Given the description of an element on the screen output the (x, y) to click on. 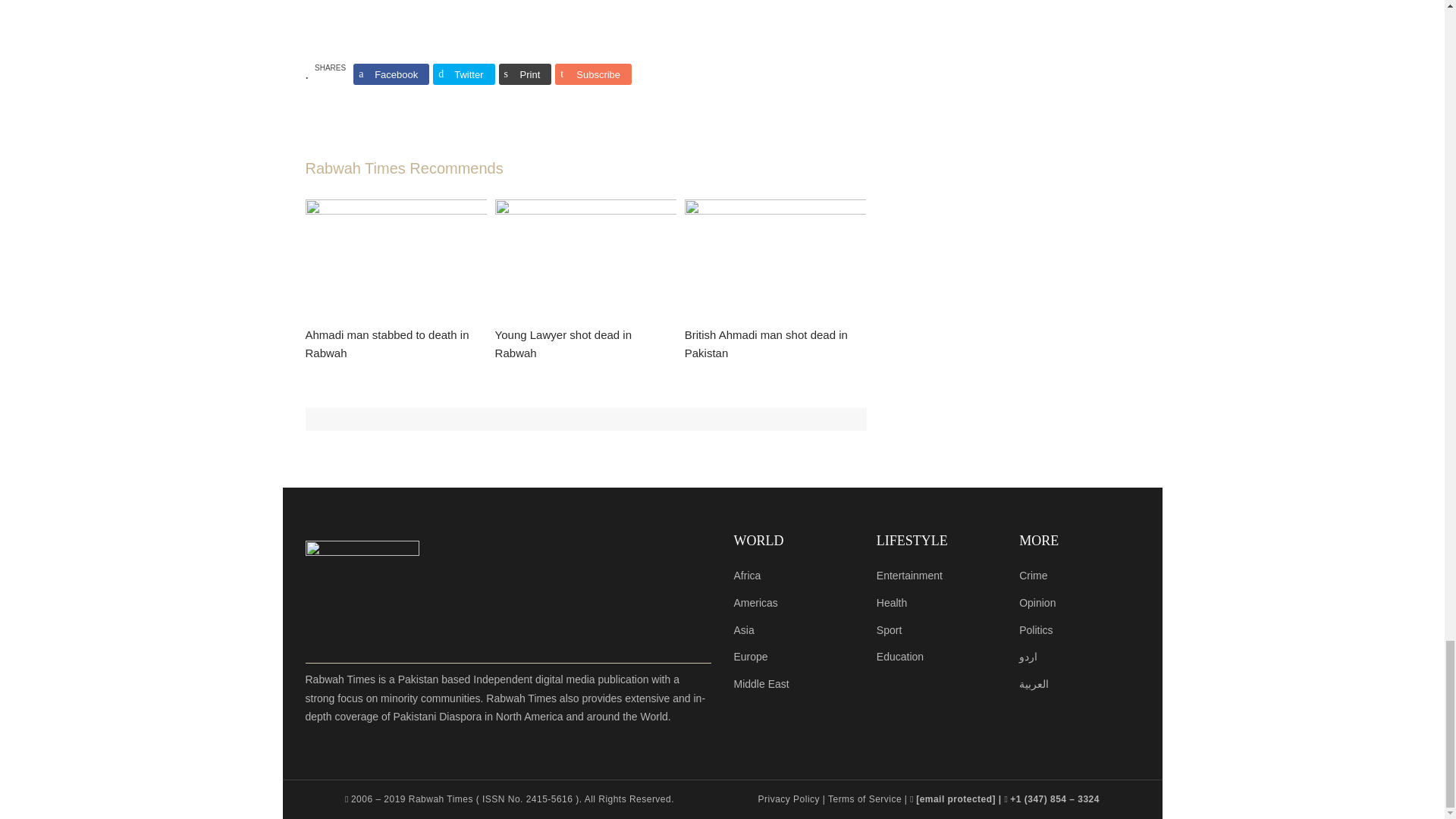
Share on Subscribe (592, 74)
Share on Twitter (463, 74)
Share on Print (525, 74)
Share on Facebook (391, 74)
